Given the description of an element on the screen output the (x, y) to click on. 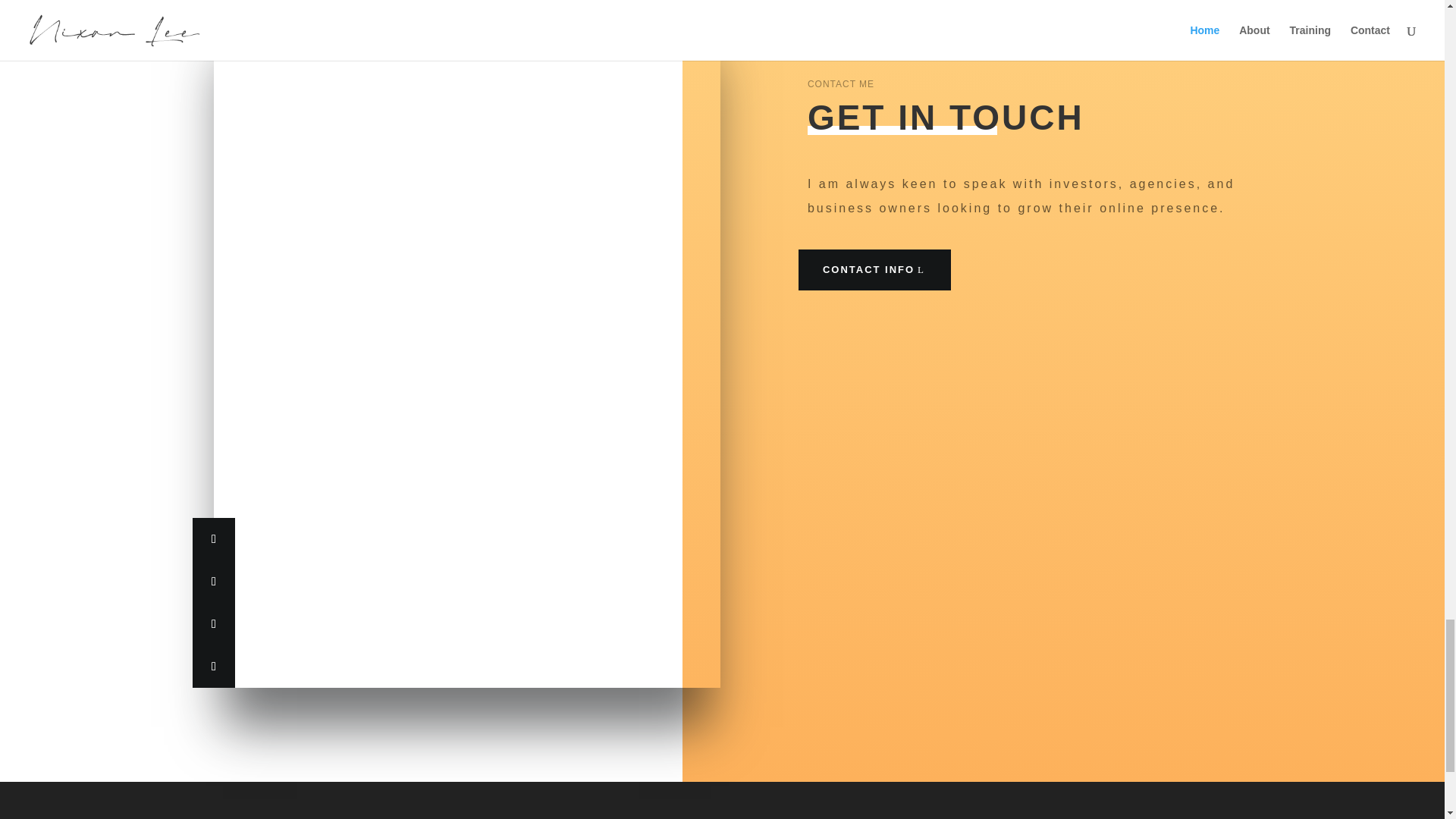
Follow on Instagram (213, 538)
Follow on Facebook (213, 623)
CONTACT INFO (873, 269)
Follow on Youtube (213, 581)
Follow on LinkedIn (213, 666)
